Given the description of an element on the screen output the (x, y) to click on. 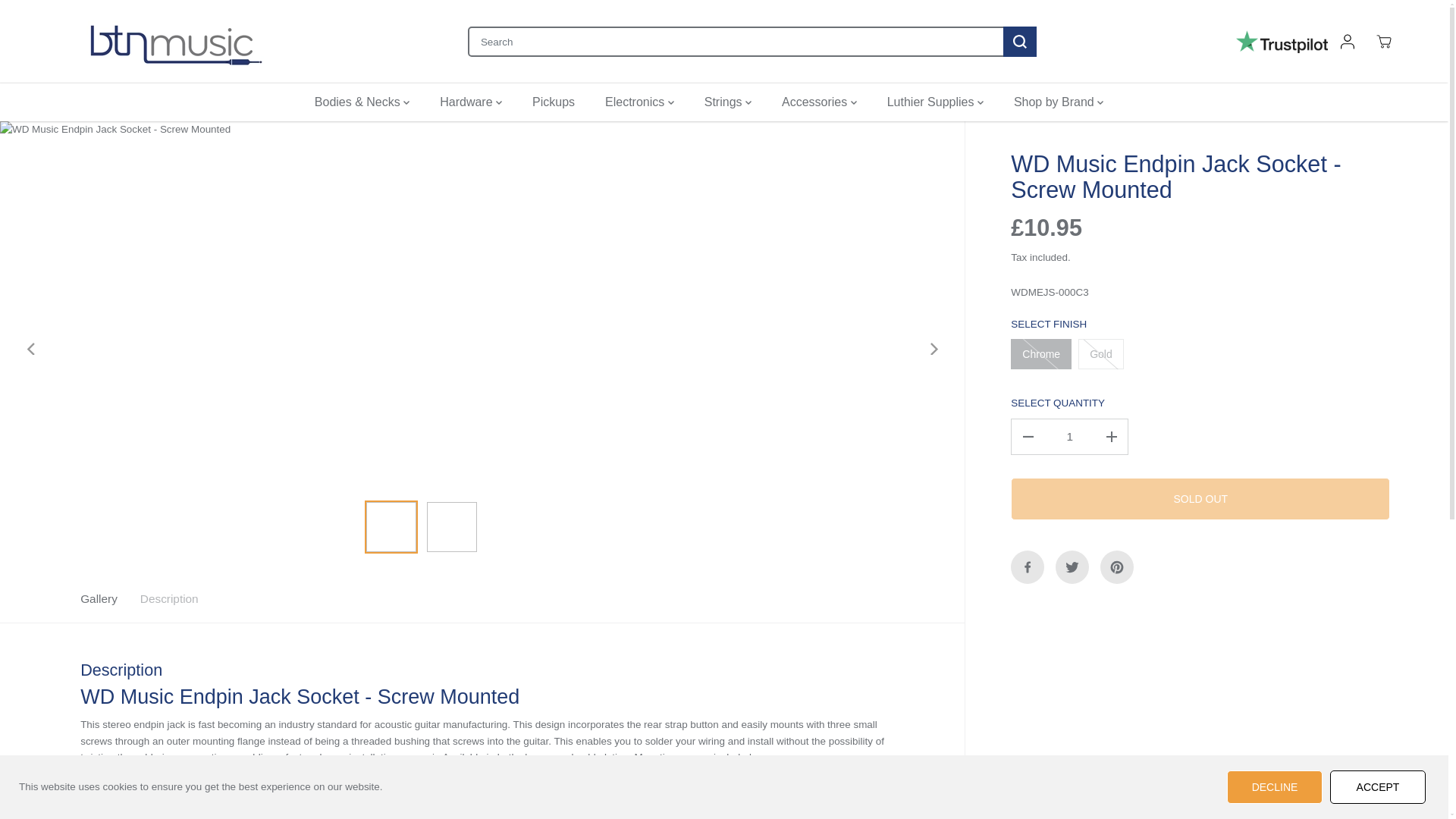
SKIP TO CONTENT (60, 18)
1 (1069, 436)
Gold (1101, 354)
Twitter (1072, 566)
Chrome (1040, 354)
Chrome (1040, 354)
Pinterest (1117, 566)
Facebook (1026, 566)
Gold (1101, 354)
Cart (1383, 41)
Log in (1347, 41)
